Given the description of an element on the screen output the (x, y) to click on. 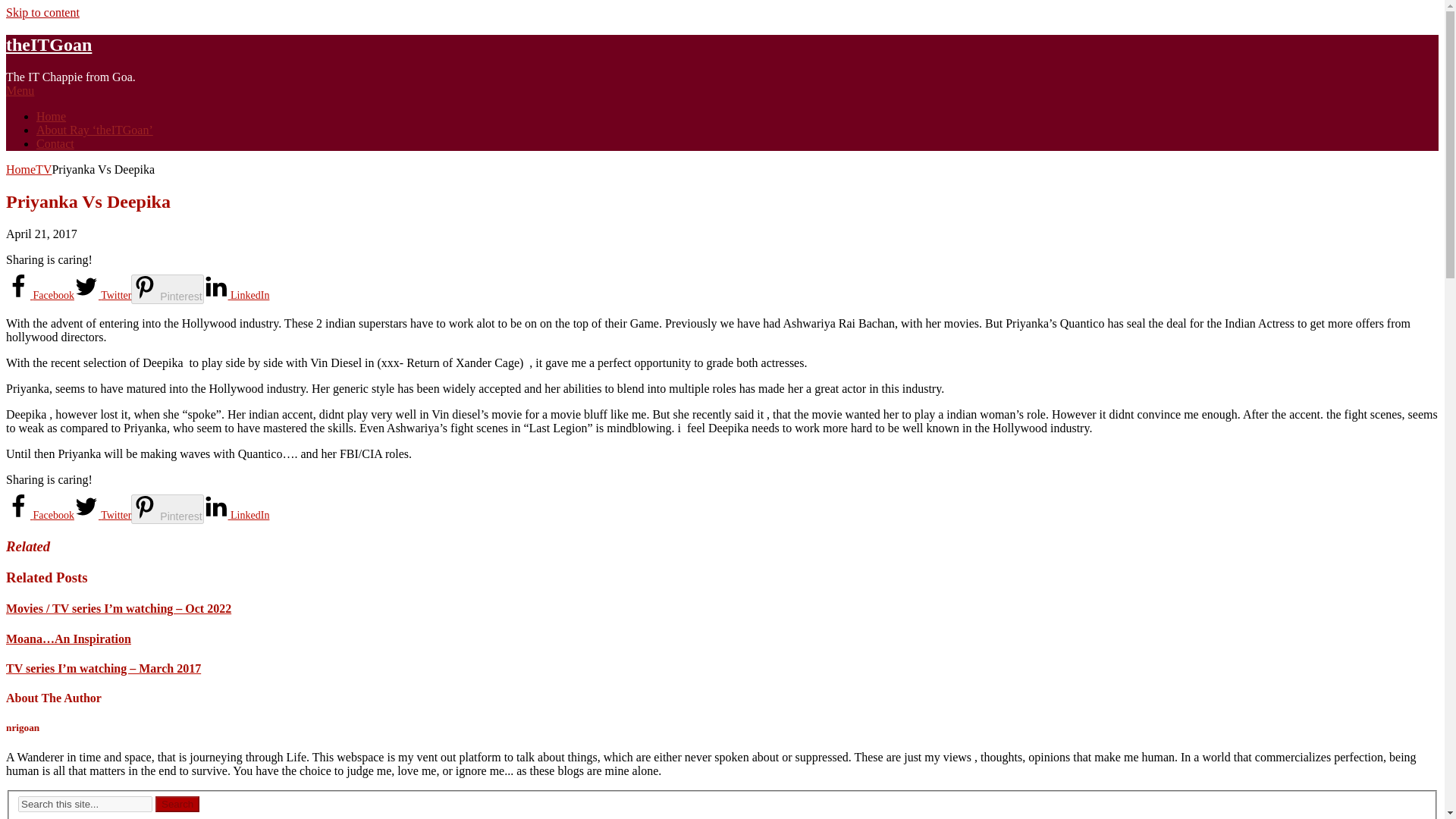
Search this site... (84, 804)
Menu (19, 90)
Skip to content (42, 11)
LinkedIn (236, 295)
Twitter (102, 514)
Facebook (39, 295)
Share on Twitter (102, 514)
Share on Facebook (39, 514)
Search (177, 804)
TV (42, 169)
Twitter (102, 295)
Search (177, 804)
Share on Facebook (39, 295)
Share on LinkedIn (236, 295)
Pinterest (167, 509)
